Given the description of an element on the screen output the (x, y) to click on. 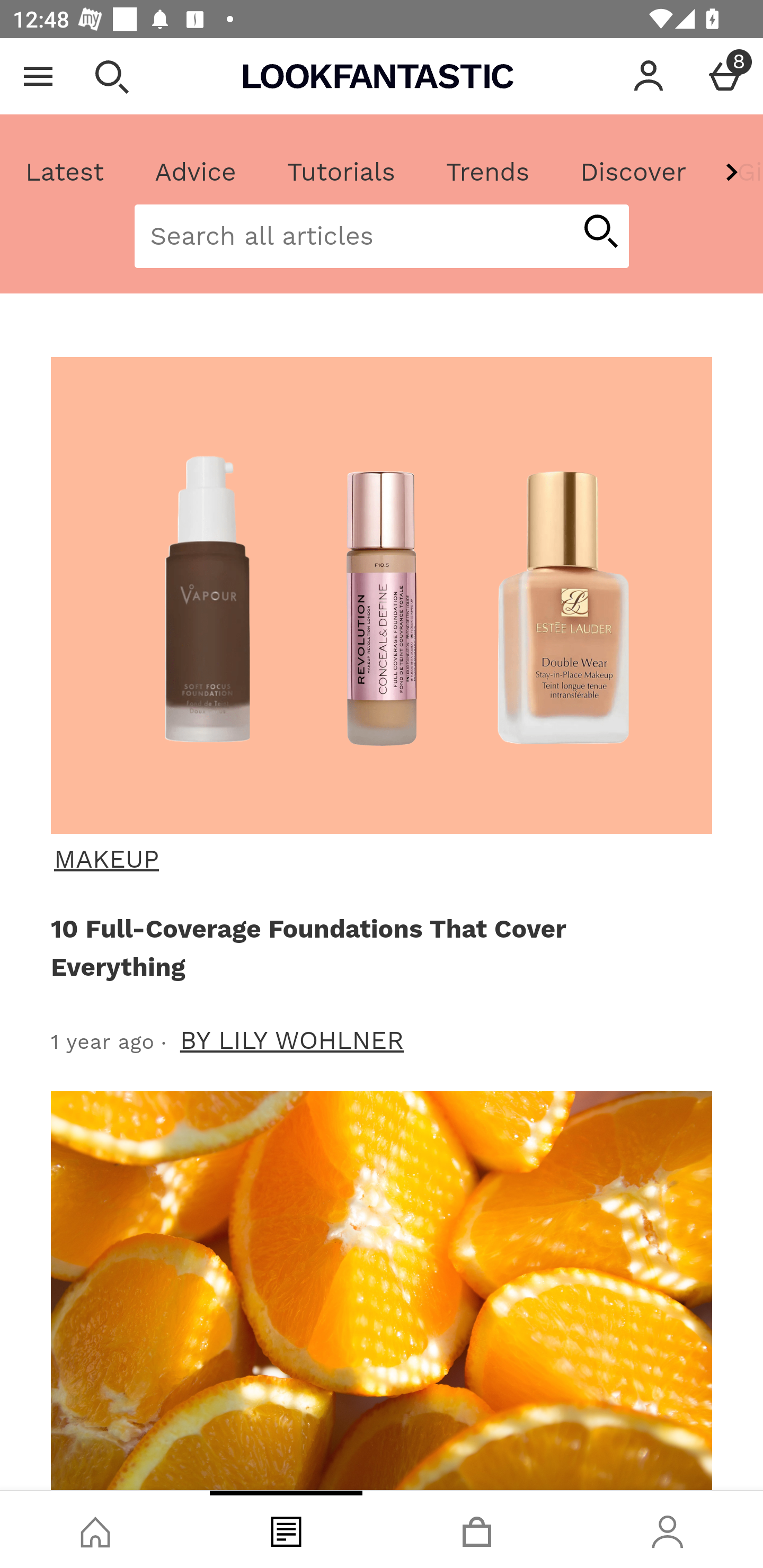
Open Menu (38, 75)
Open search (111, 75)
Account (648, 75)
Basket Menu (724, 75)
Lookfantastic USA Home page (378, 76)
Latest (65, 172)
Advice (195, 172)
Tutorials (340, 172)
Trends (486, 172)
Discover (632, 172)
Gift Guide (736, 172)
start article search (599, 232)
MAKEUP (379, 858)
10 Full-Coverage Foundations That Cover Everything (377, 947)
BY LILY WOHLNER (292, 1040)
Shop, tab, 1 of 4 (95, 1529)
Blog, tab, 2 of 4 (285, 1529)
Basket, tab, 3 of 4 (476, 1529)
Account, tab, 4 of 4 (667, 1529)
